Given the description of an element on the screen output the (x, y) to click on. 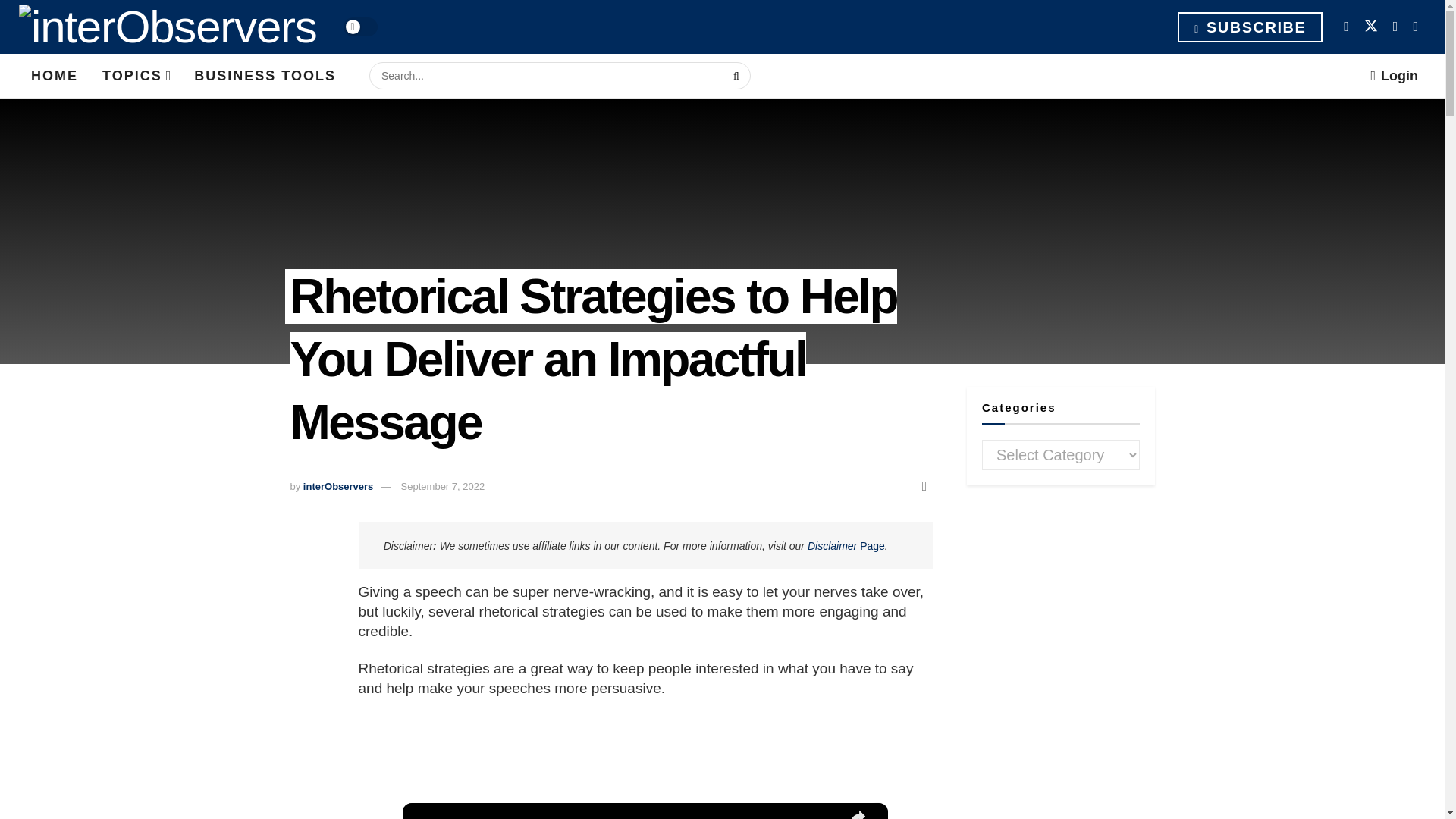
share (857, 811)
SUBSCRIBE (1249, 27)
HOME (54, 75)
Login (1394, 75)
TOPICS (136, 75)
BUSINESS TOOLS (264, 75)
